Given the description of an element on the screen output the (x, y) to click on. 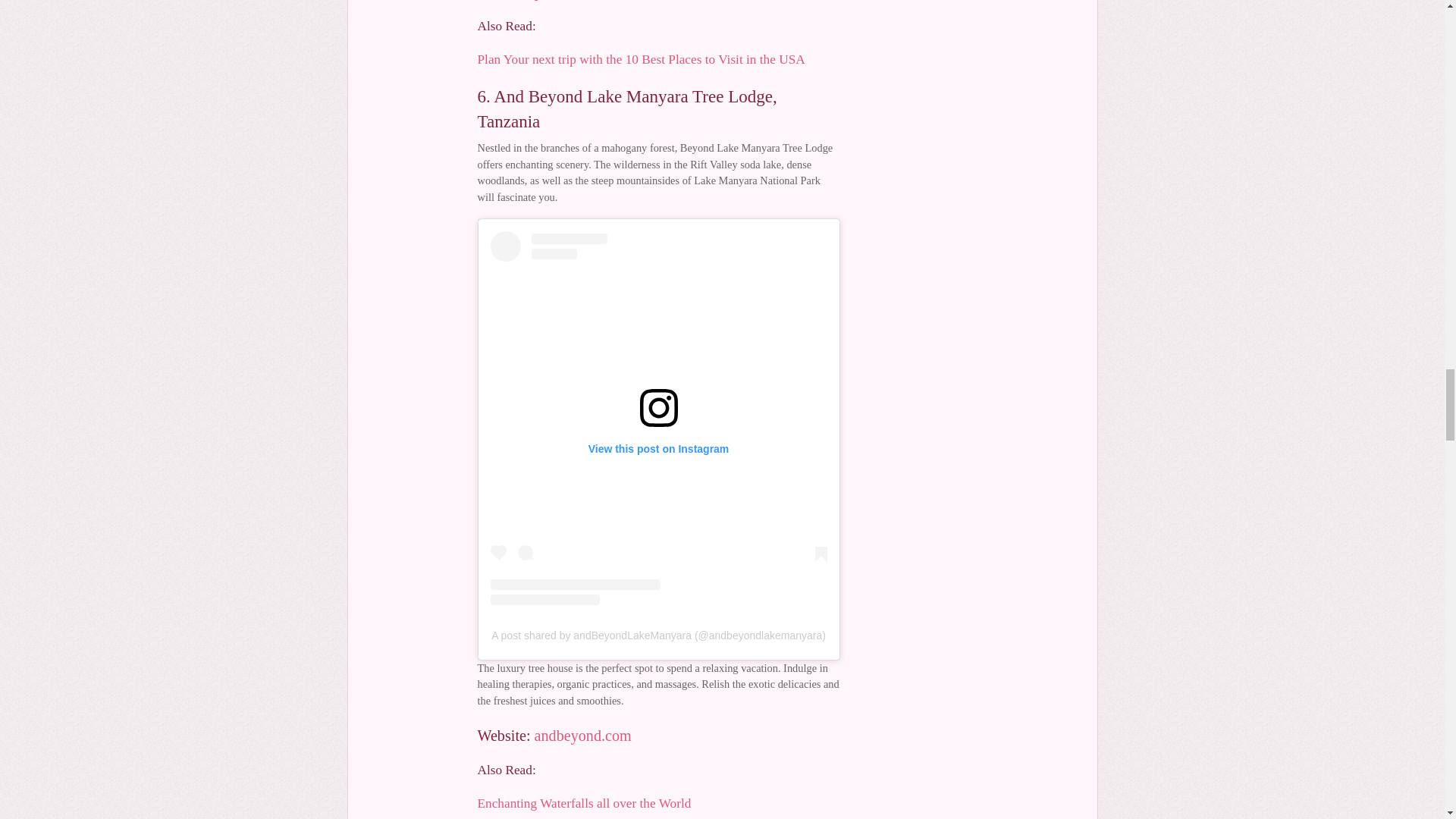
View this post on Instagram (658, 417)
Enchanting Waterfalls all over the World (584, 803)
andbeyond.com (582, 735)
